Given the description of an element on the screen output the (x, y) to click on. 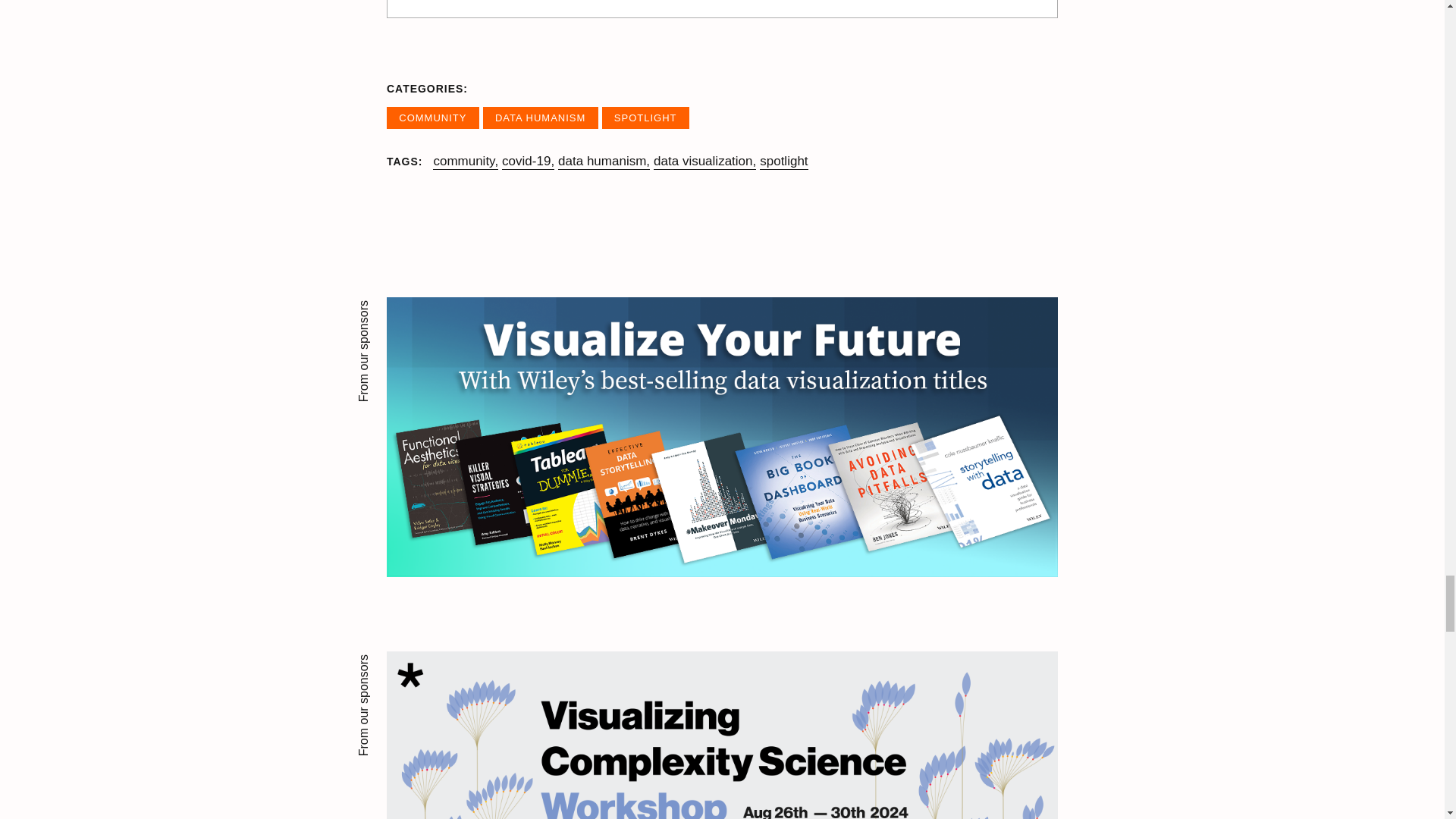
From our sponsors (722, 735)
